Given the description of an element on the screen output the (x, y) to click on. 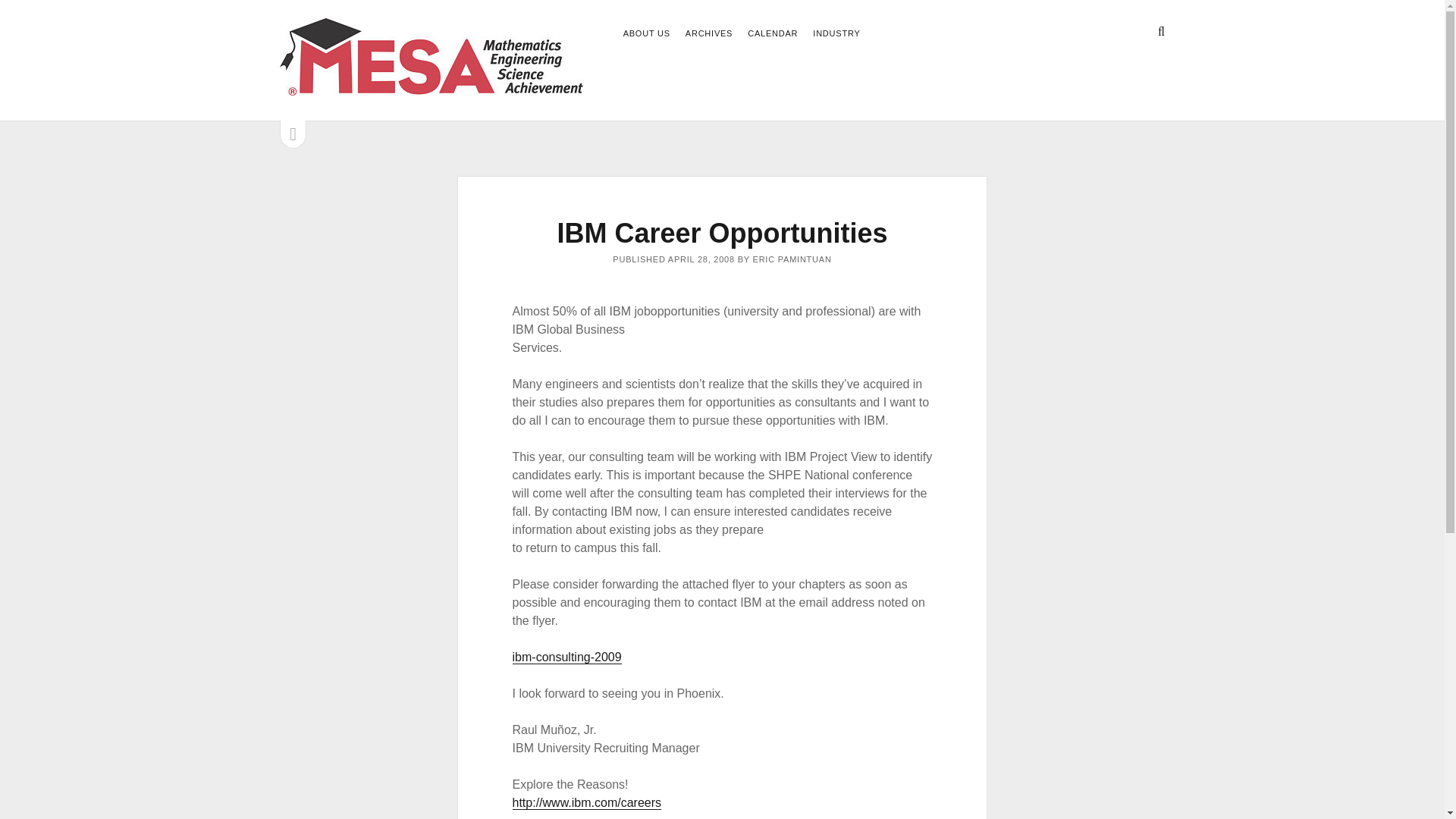
sidebar icon (293, 134)
INDUSTRY (836, 33)
open sidebar (292, 134)
San Diego MESA Alliance (431, 88)
CALENDAR (772, 33)
ABOUT US (646, 33)
ibm-consulting-2009 (566, 657)
ARCHIVES (708, 33)
